Given the description of an element on the screen output the (x, y) to click on. 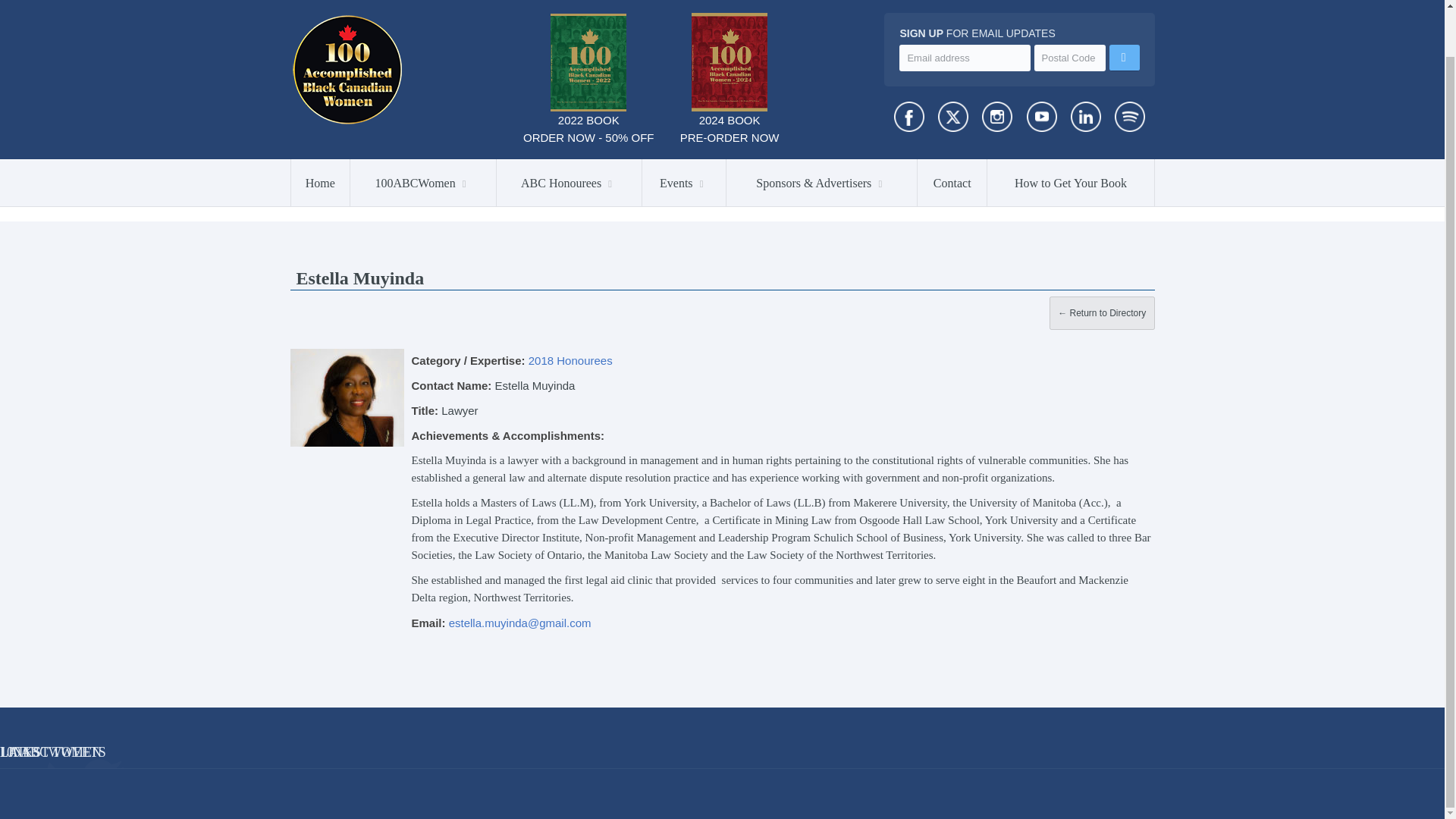
Home (320, 132)
ABC Honourees (569, 132)
100ABCWomen (423, 132)
Estella Muyinda (346, 397)
